Given the description of an element on the screen output the (x, y) to click on. 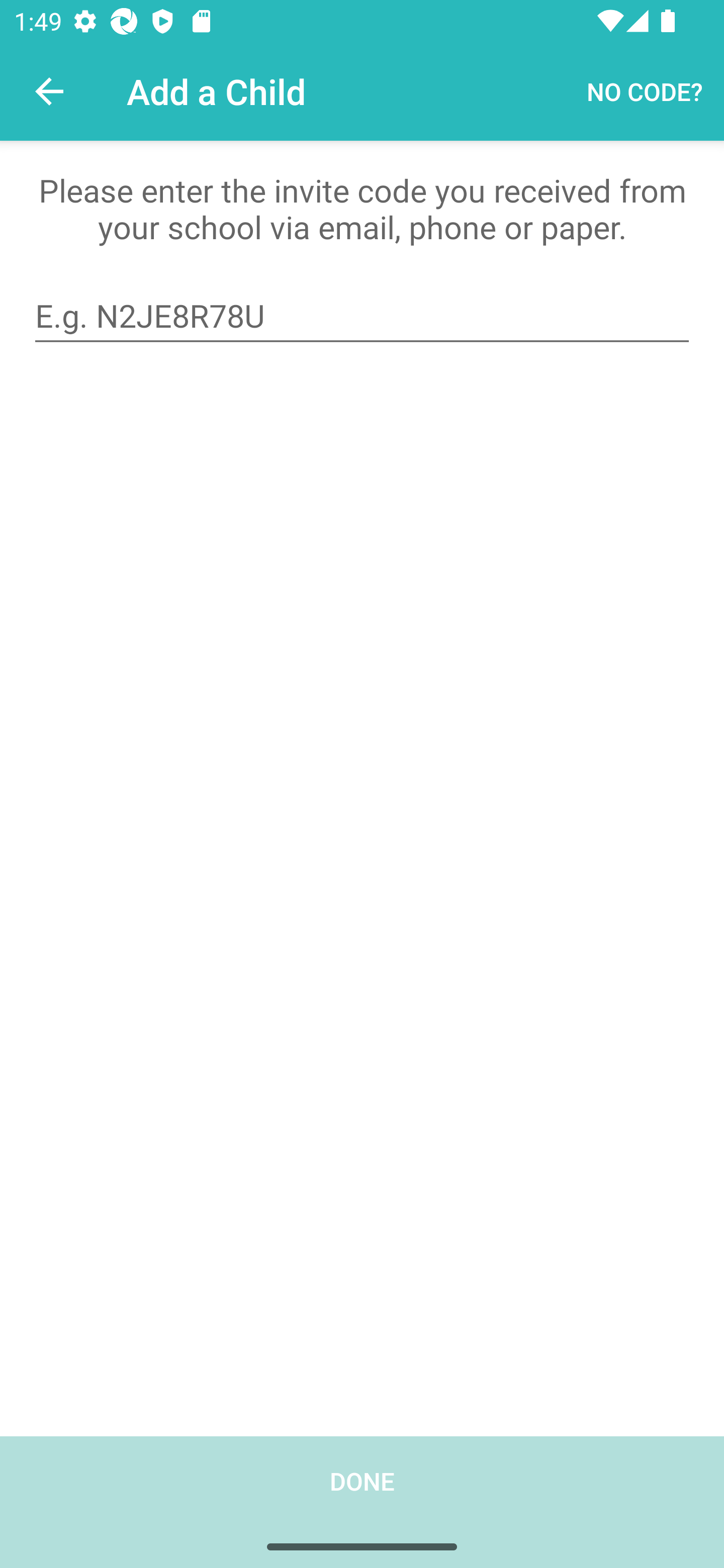
Navigate up (49, 91)
NO CODE? (644, 90)
E.g. N2JE8R78U (361, 315)
DONE (362, 1502)
